Given the description of an element on the screen output the (x, y) to click on. 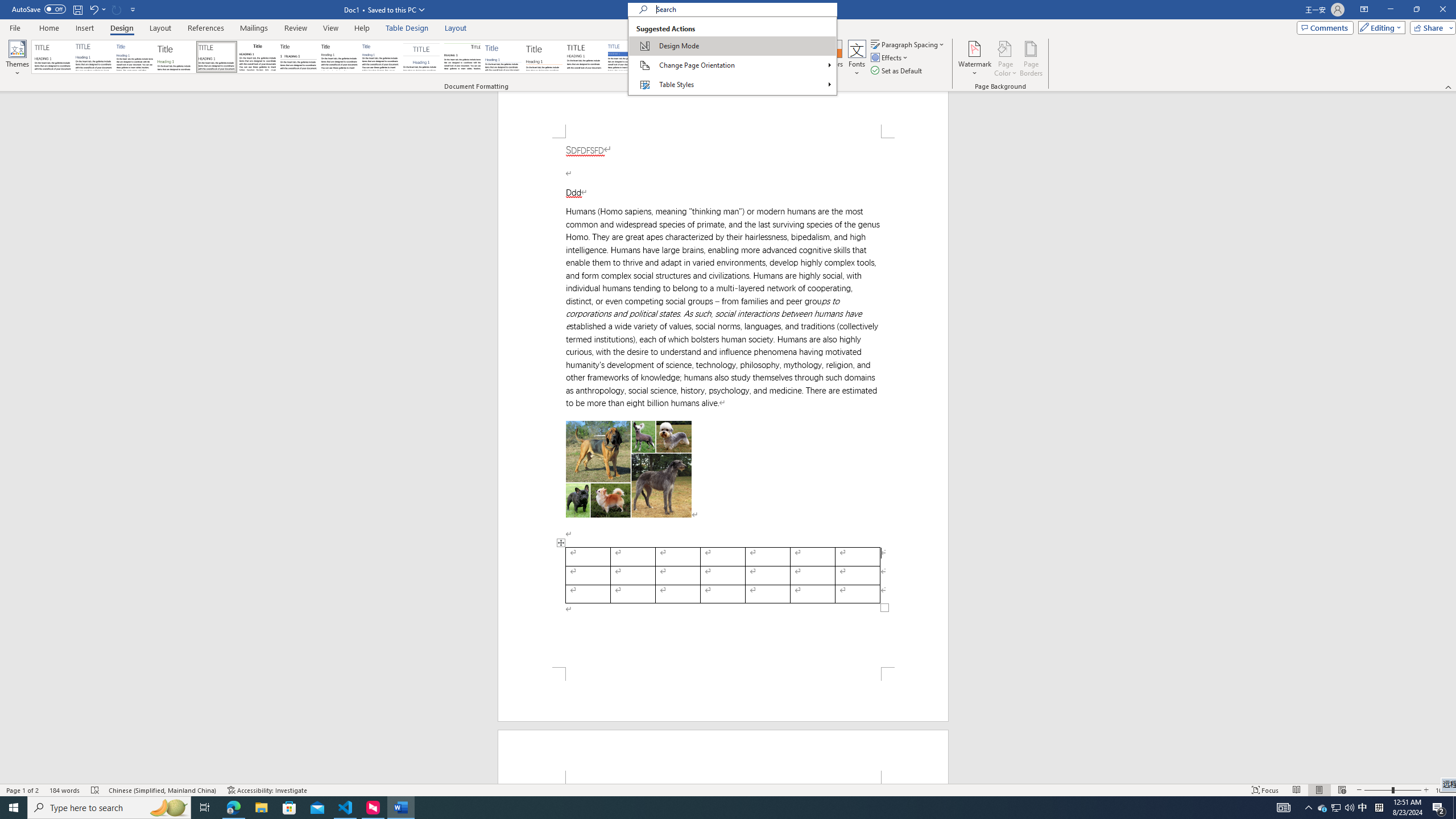
Change Page Orientation (731, 65)
Lines (Stylish) (544, 56)
Zoom 100% (1443, 790)
Spelling and Grammar Check Errors (94, 790)
Microsoft search (742, 9)
Shaded (625, 56)
Page Number Page 1 of 2 (22, 790)
Word (666, 56)
Row Down (814, 56)
Zoom (1392, 790)
